Given the description of an element on the screen output the (x, y) to click on. 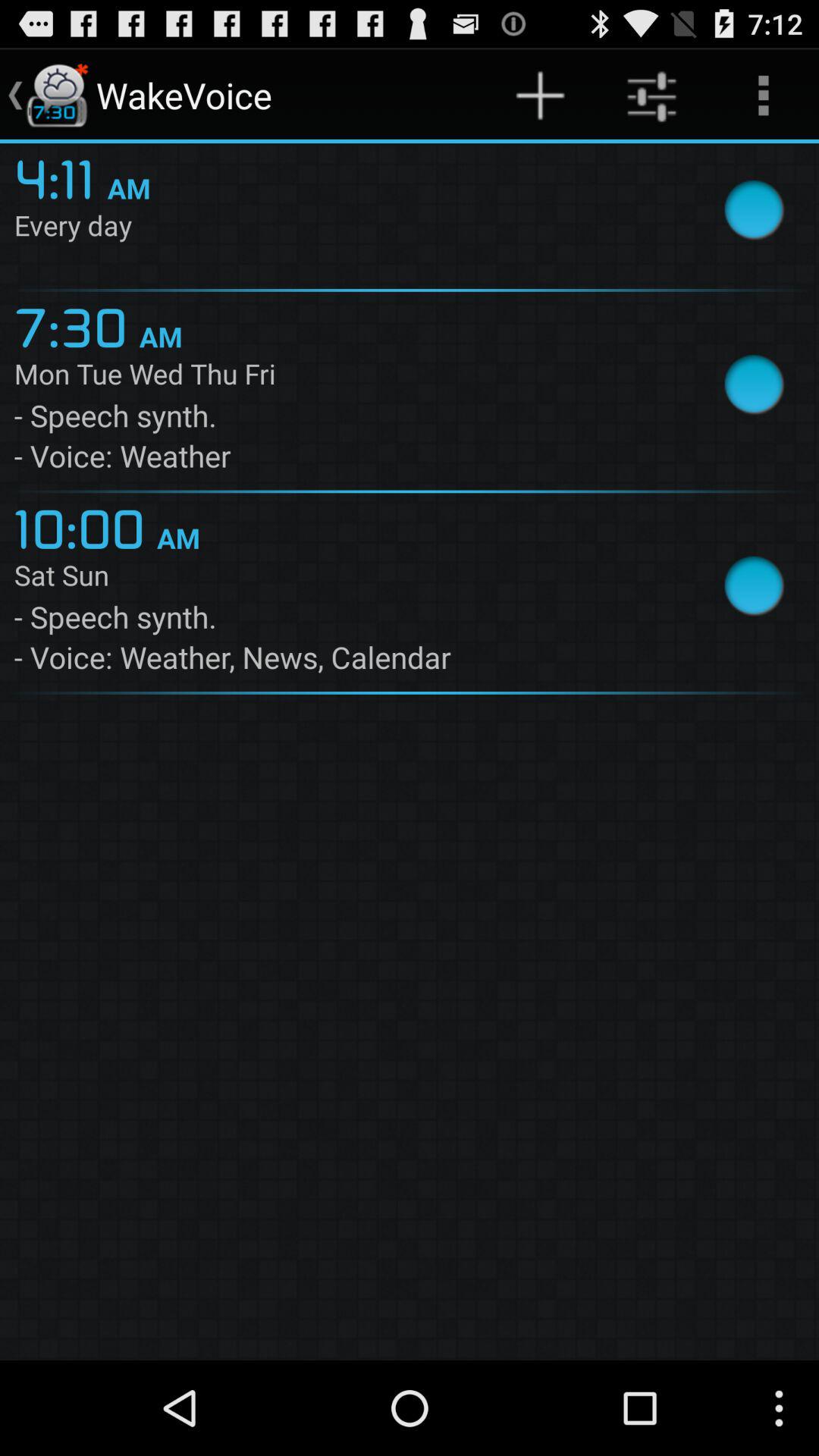
scroll until the sat sun icon (343, 578)
